Given the description of an element on the screen output the (x, y) to click on. 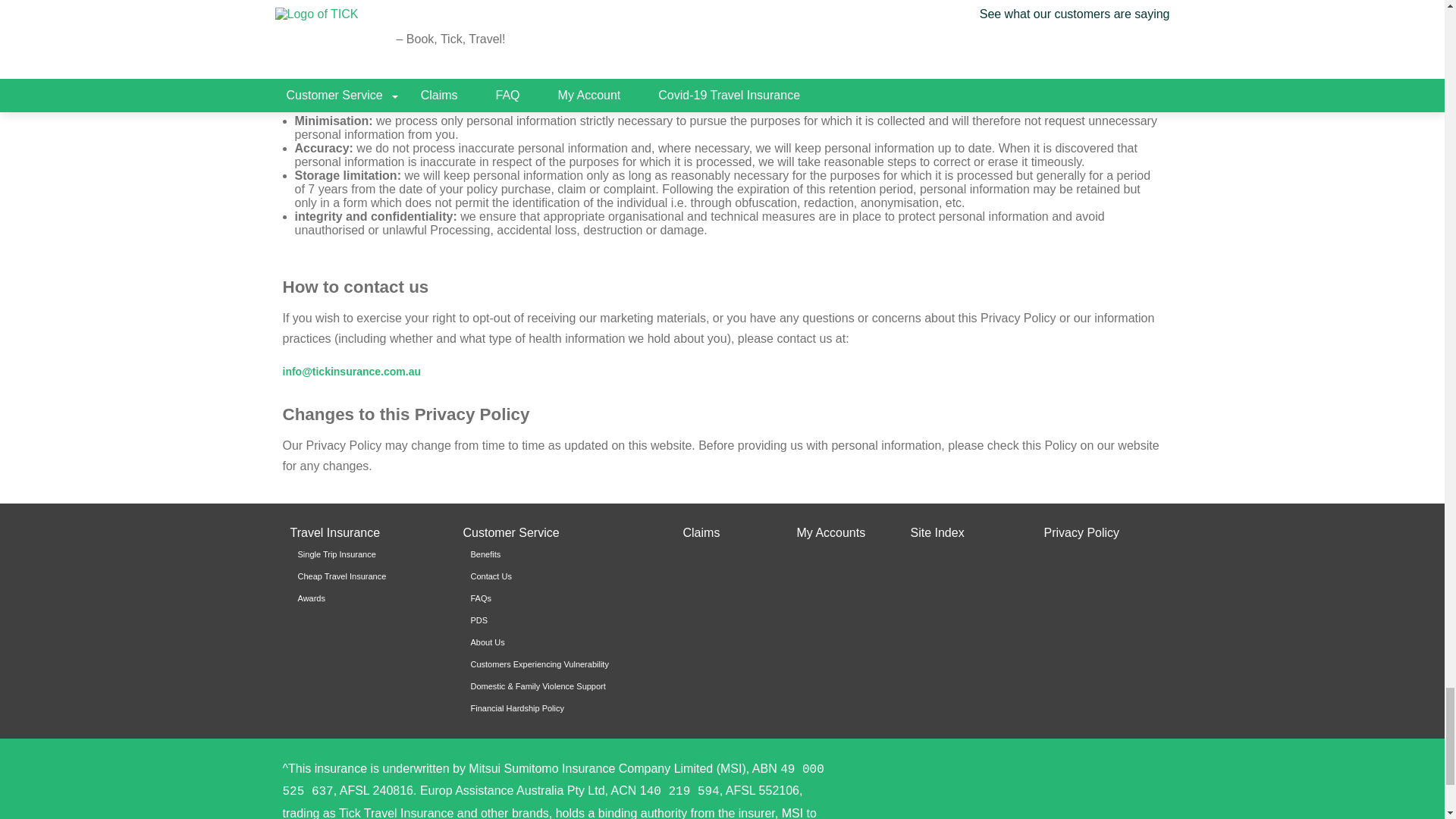
Financial Hardship Policy (561, 708)
Site Index (936, 532)
Single Trip Insurance (368, 554)
Claims (700, 532)
Awards (368, 598)
About Us (561, 642)
Cheap Travel Insurance (368, 576)
Privacy Policy (1081, 532)
FAQs (561, 598)
Customers Experiencing Vulnerability (561, 664)
